Given the description of an element on the screen output the (x, y) to click on. 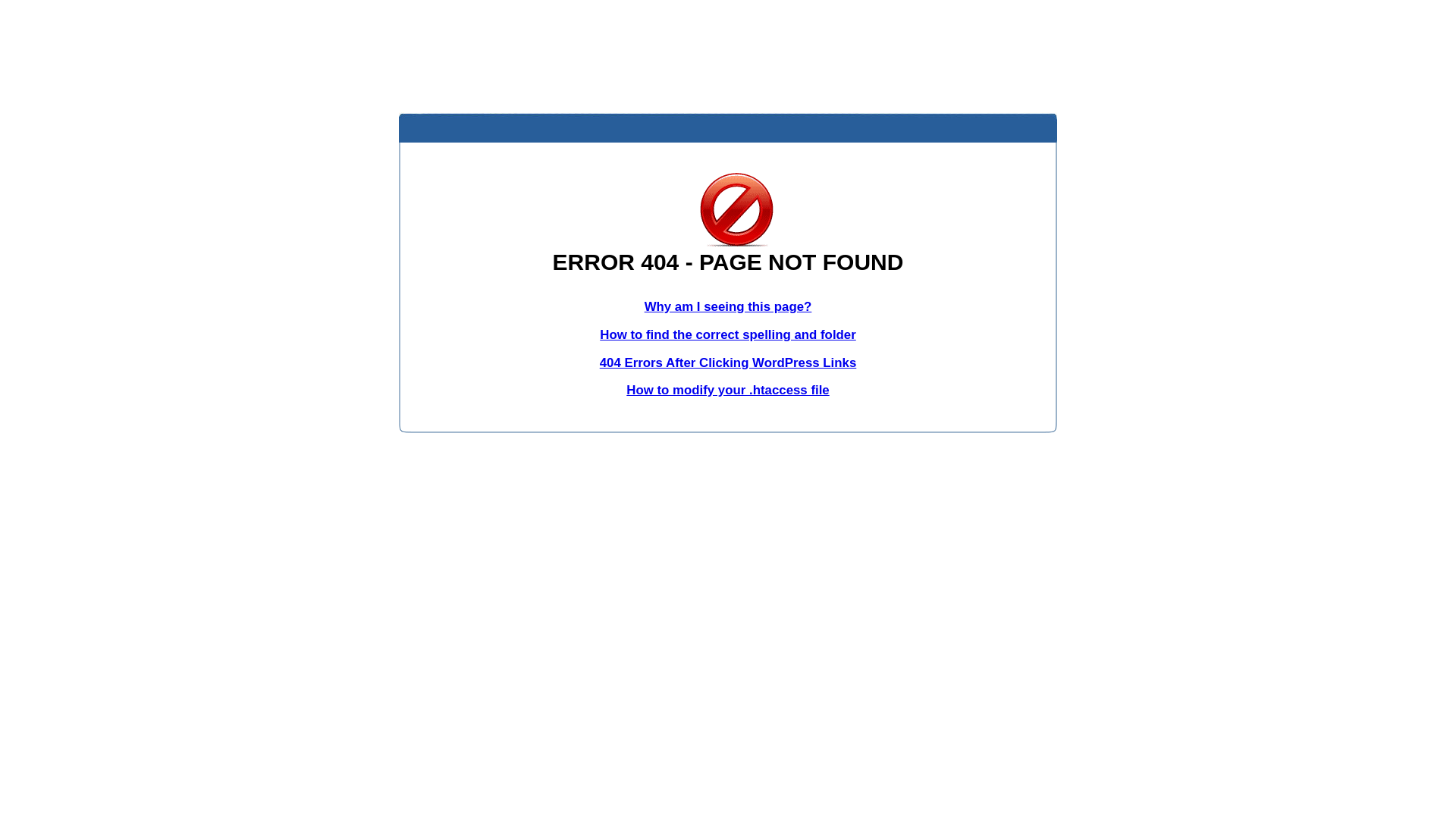
How to find the correct spelling and folder Element type: text (727, 334)
404 Errors After Clicking WordPress Links Element type: text (727, 362)
How to modify your .htaccess file Element type: text (727, 389)
Why am I seeing this page? Element type: text (728, 306)
